Given the description of an element on the screen output the (x, y) to click on. 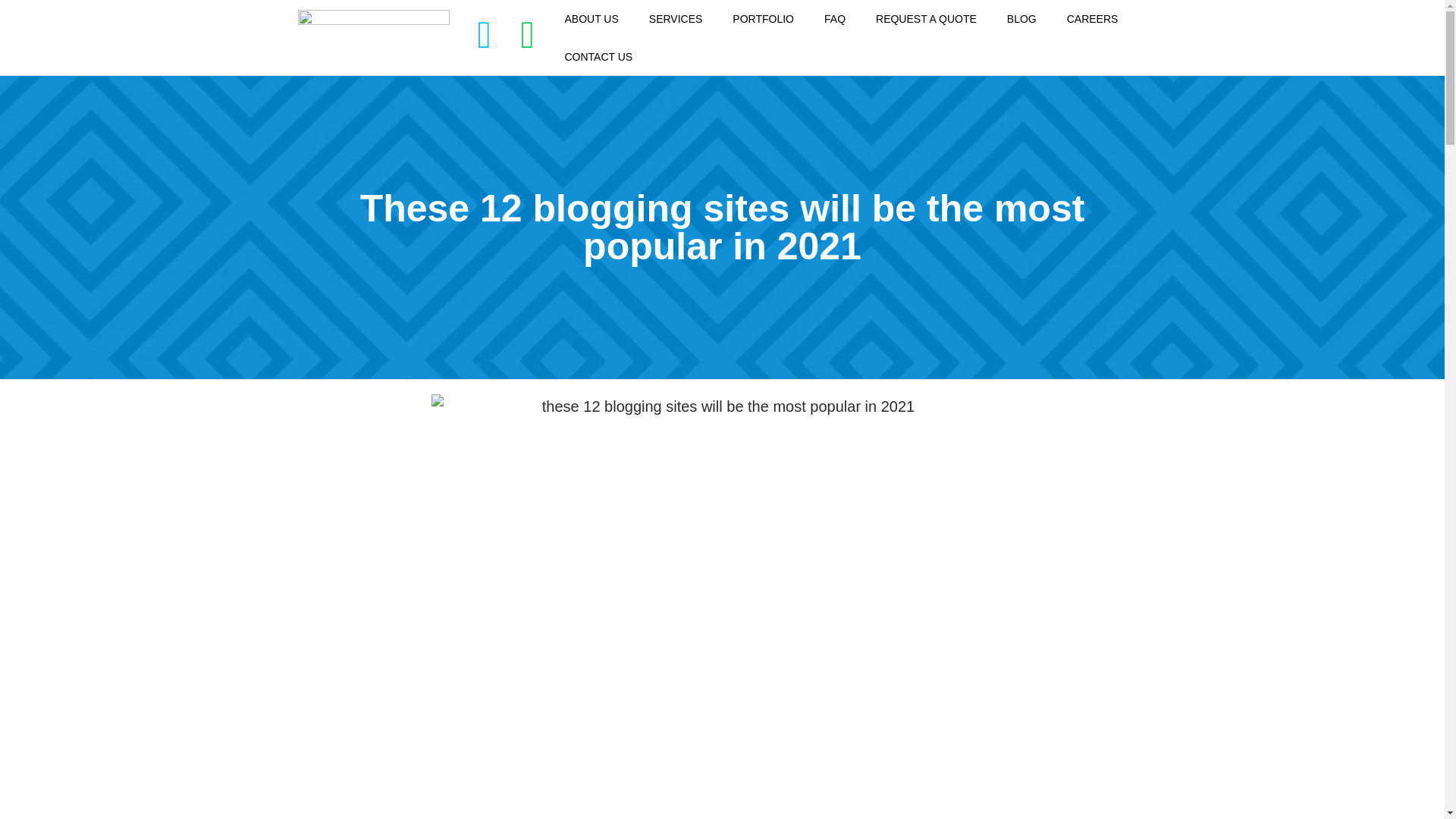
ABOUT US (590, 18)
PORTFOLIO (763, 18)
FAQ (834, 18)
CONTACT US (597, 56)
SERVICES (675, 18)
skip to content (11, 31)
REQUEST A QUOTE (925, 18)
BLOG (1021, 18)
CAREERS (1092, 18)
